Given the description of an element on the screen output the (x, y) to click on. 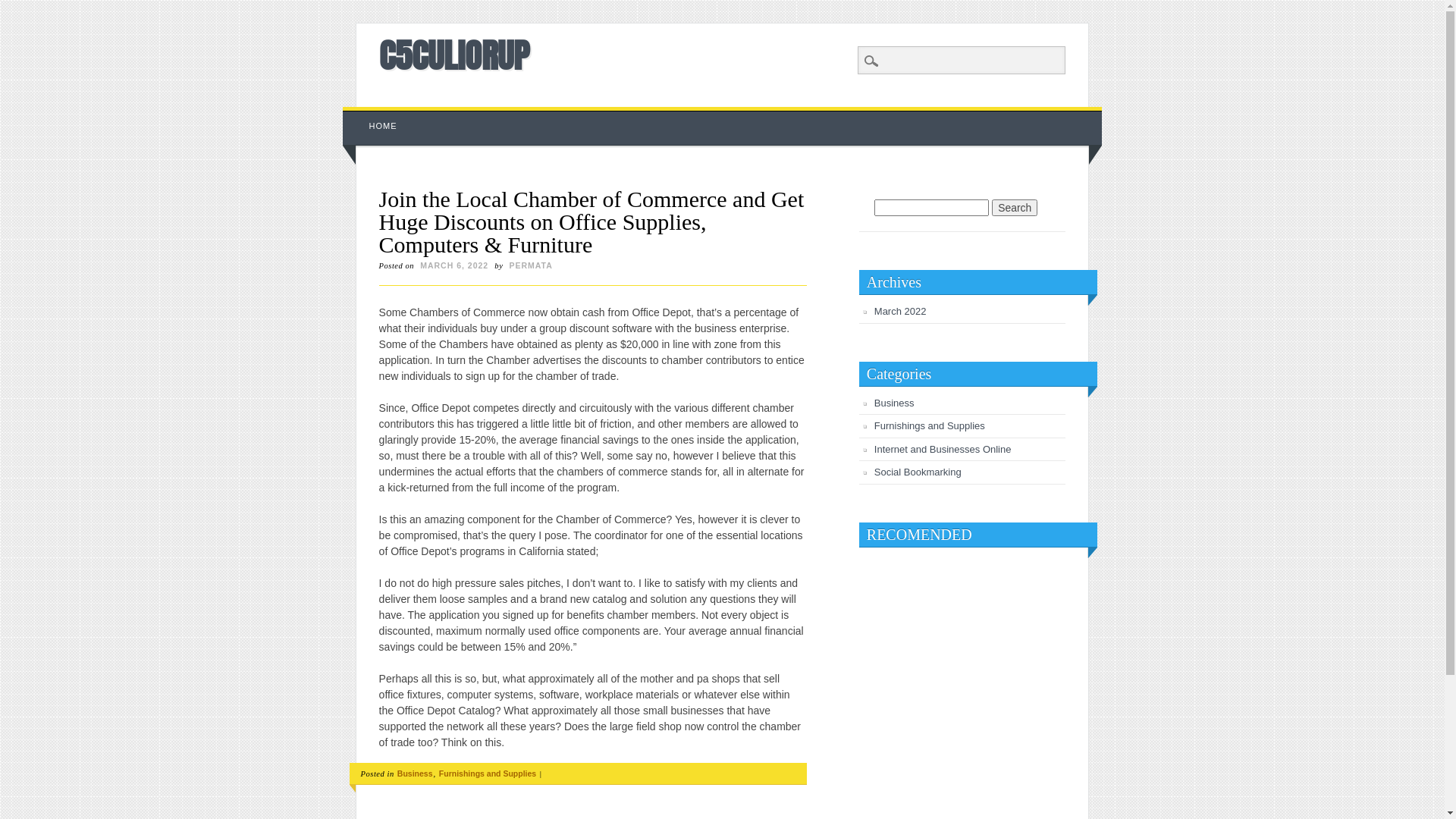
Furnishings and Supplies Element type: text (487, 773)
C5CULIORUP Element type: text (454, 55)
Search Element type: text (1014, 207)
MARCH 6, 2022 Element type: text (454, 264)
Social Bookmarking Element type: text (917, 471)
Search Element type: text (22, 8)
Business Element type: text (414, 773)
March 2022 Element type: text (900, 310)
PERMATA Element type: text (530, 264)
HOME Element type: text (383, 125)
Furnishings and Supplies Element type: text (929, 425)
Internet and Businesses Online Element type: text (942, 449)
Business Element type: text (894, 402)
Skip to content Element type: text (377, 114)
